Given the description of an element on the screen output the (x, y) to click on. 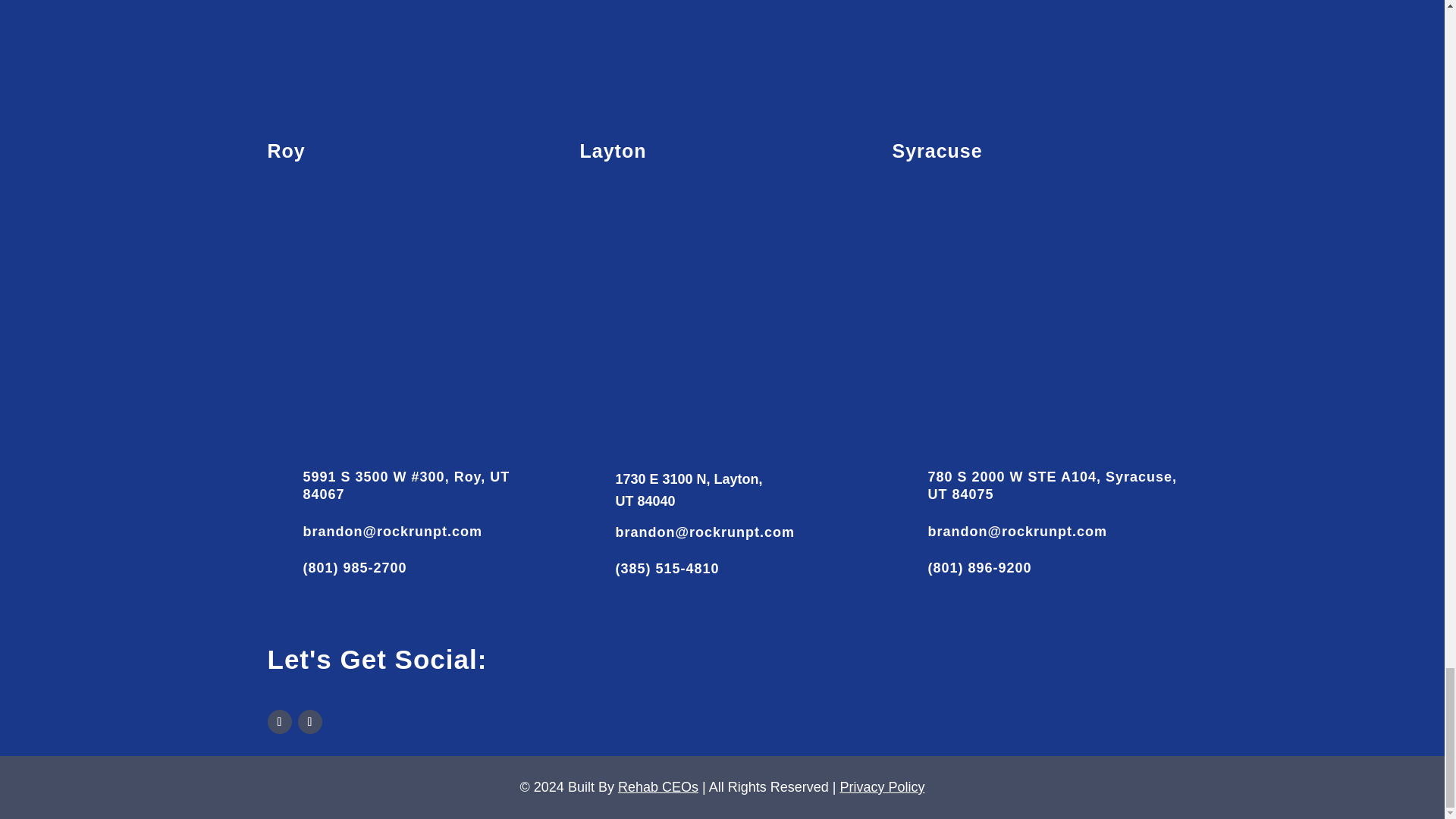
Follow on Facebook (278, 721)
white-logo (722, 46)
Follow on Youtube (309, 721)
